Given the description of an element on the screen output the (x, y) to click on. 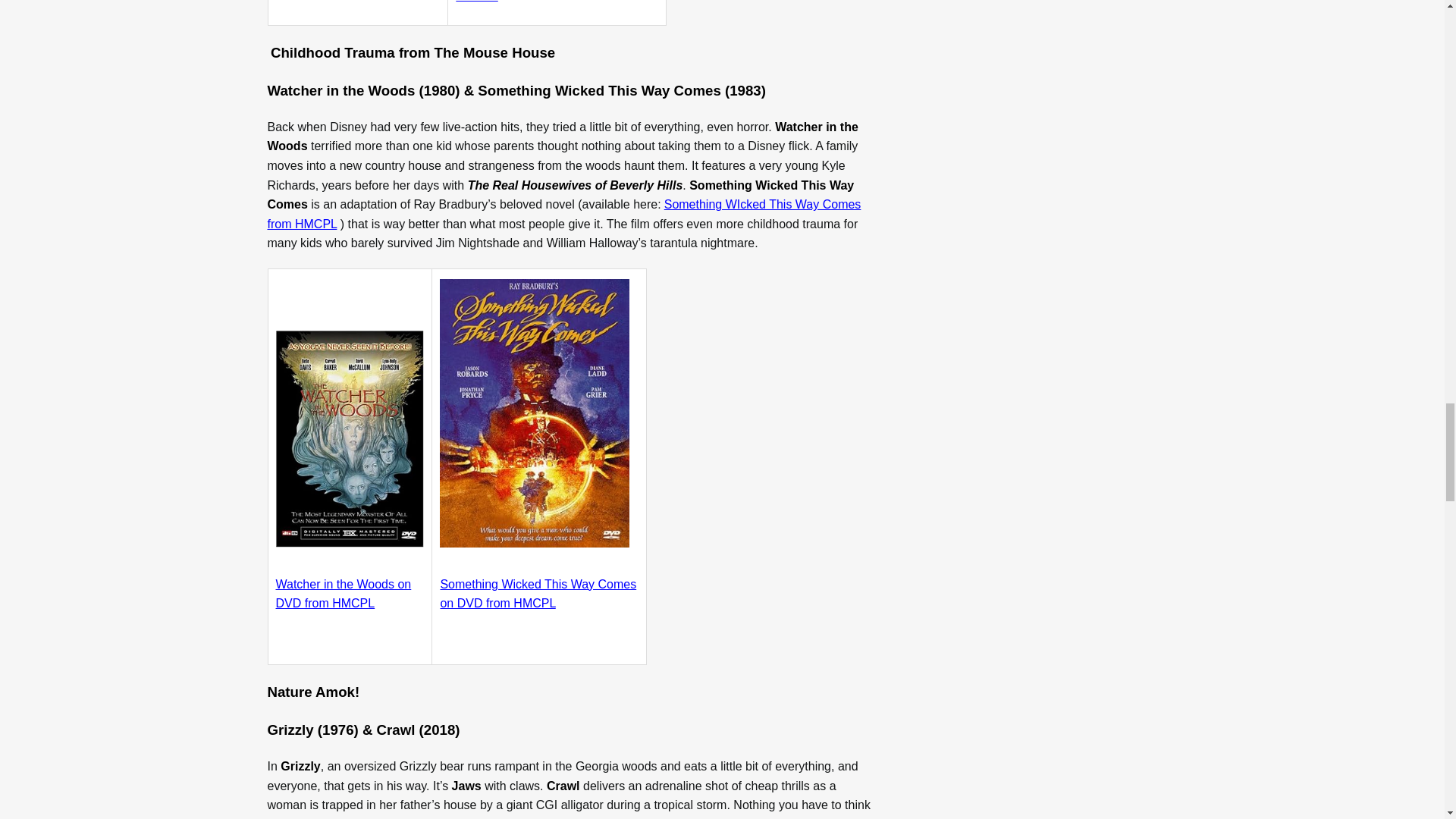
Something WIcked This Way Comes from HMCPL (563, 214)
Watcher in the Woods on DVD from HMCPL (344, 594)
Something Wicked This Way Comes on DVD from HMCPL (537, 594)
